Given the description of an element on the screen output the (x, y) to click on. 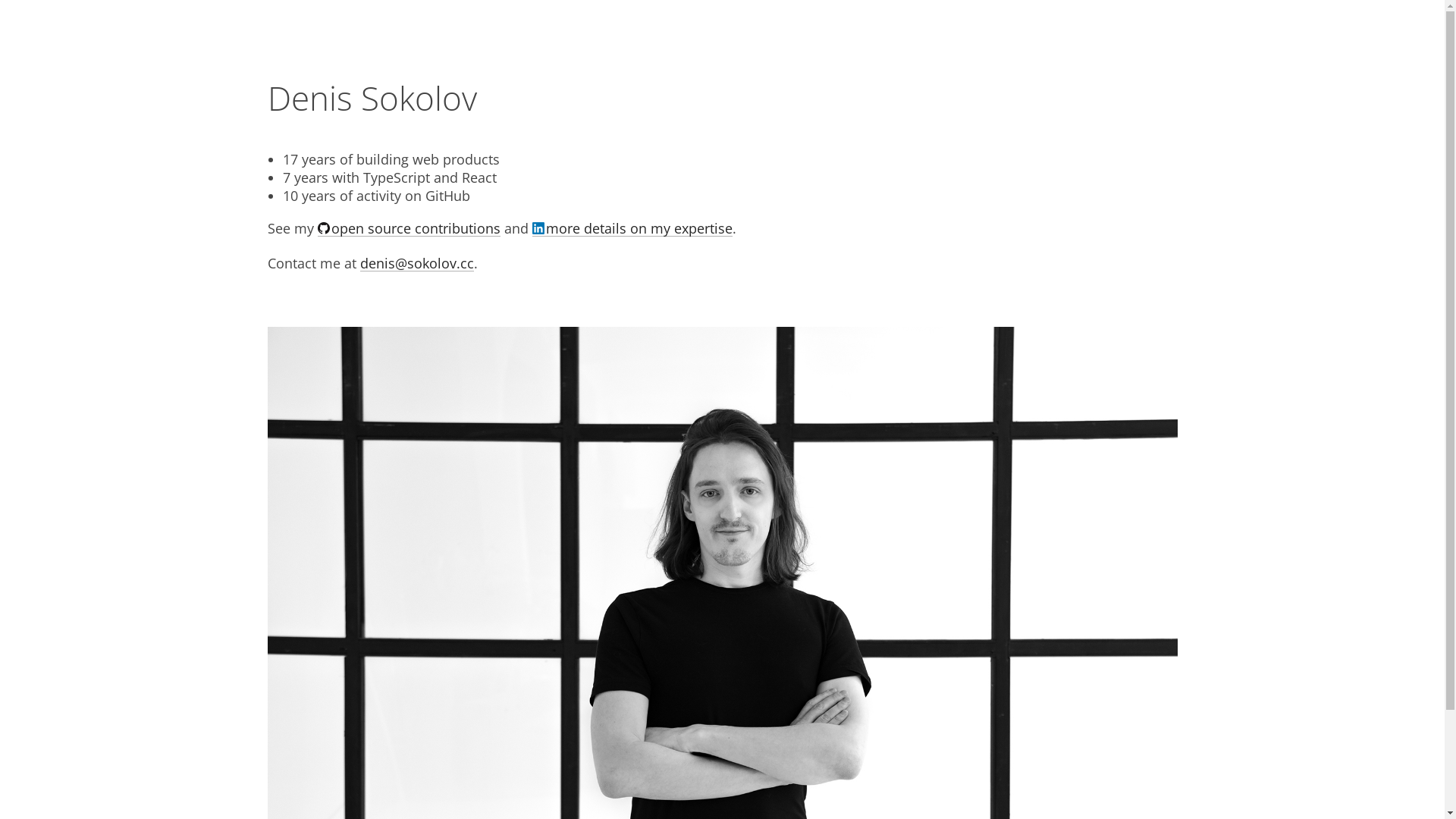
more details on my expertise Element type: text (632, 231)
open source contributions Element type: text (407, 231)
denis@sokolov.cc Element type: text (416, 266)
